Given the description of an element on the screen output the (x, y) to click on. 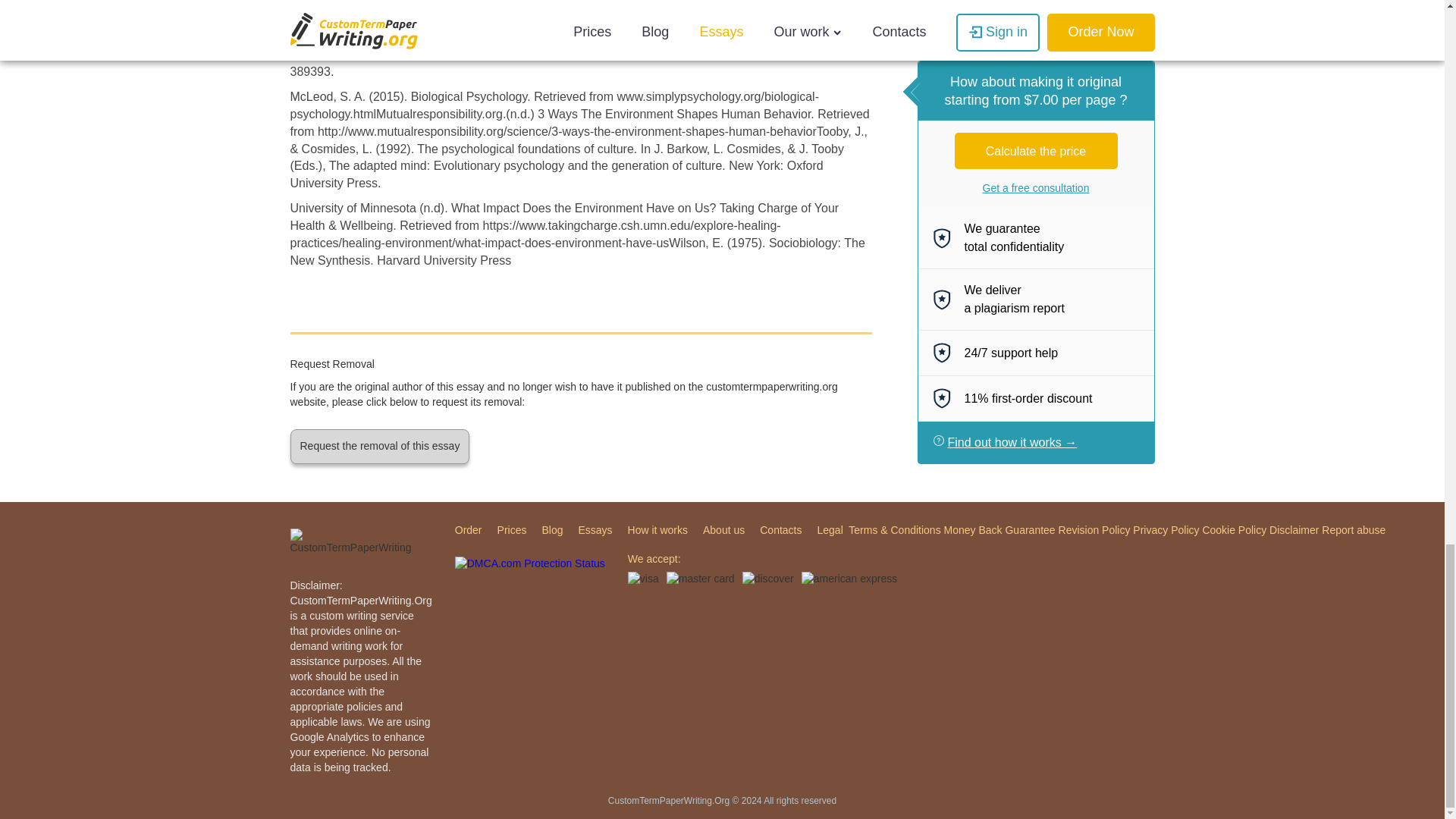
Prices (511, 530)
About us (723, 530)
visa (643, 578)
DMCA.com Protection Status (529, 572)
Blog (552, 530)
discover (767, 578)
Request the removal of this essay (378, 446)
Order (467, 530)
Contacts (780, 530)
Essays (595, 530)
